Given the description of an element on the screen output the (x, y) to click on. 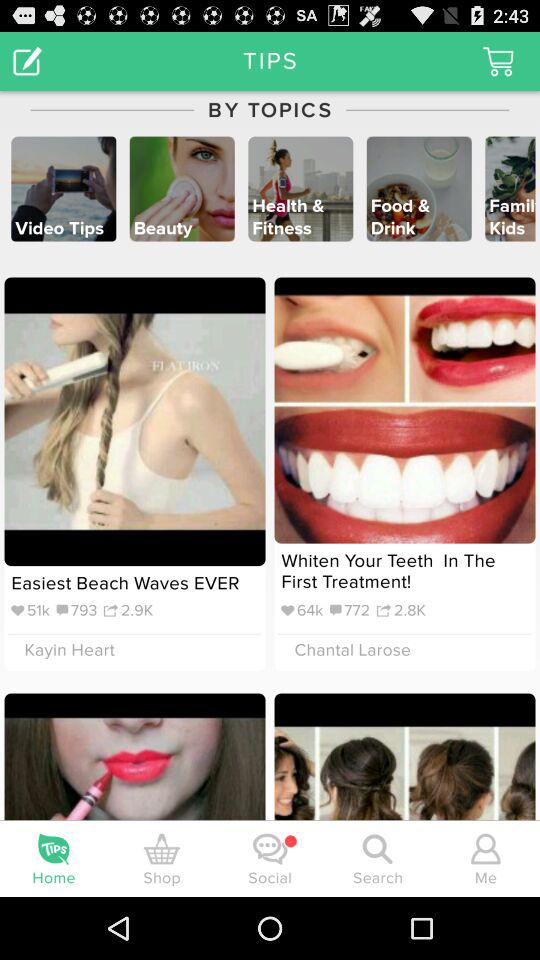
write a new tip (27, 60)
